Given the description of an element on the screen output the (x, y) to click on. 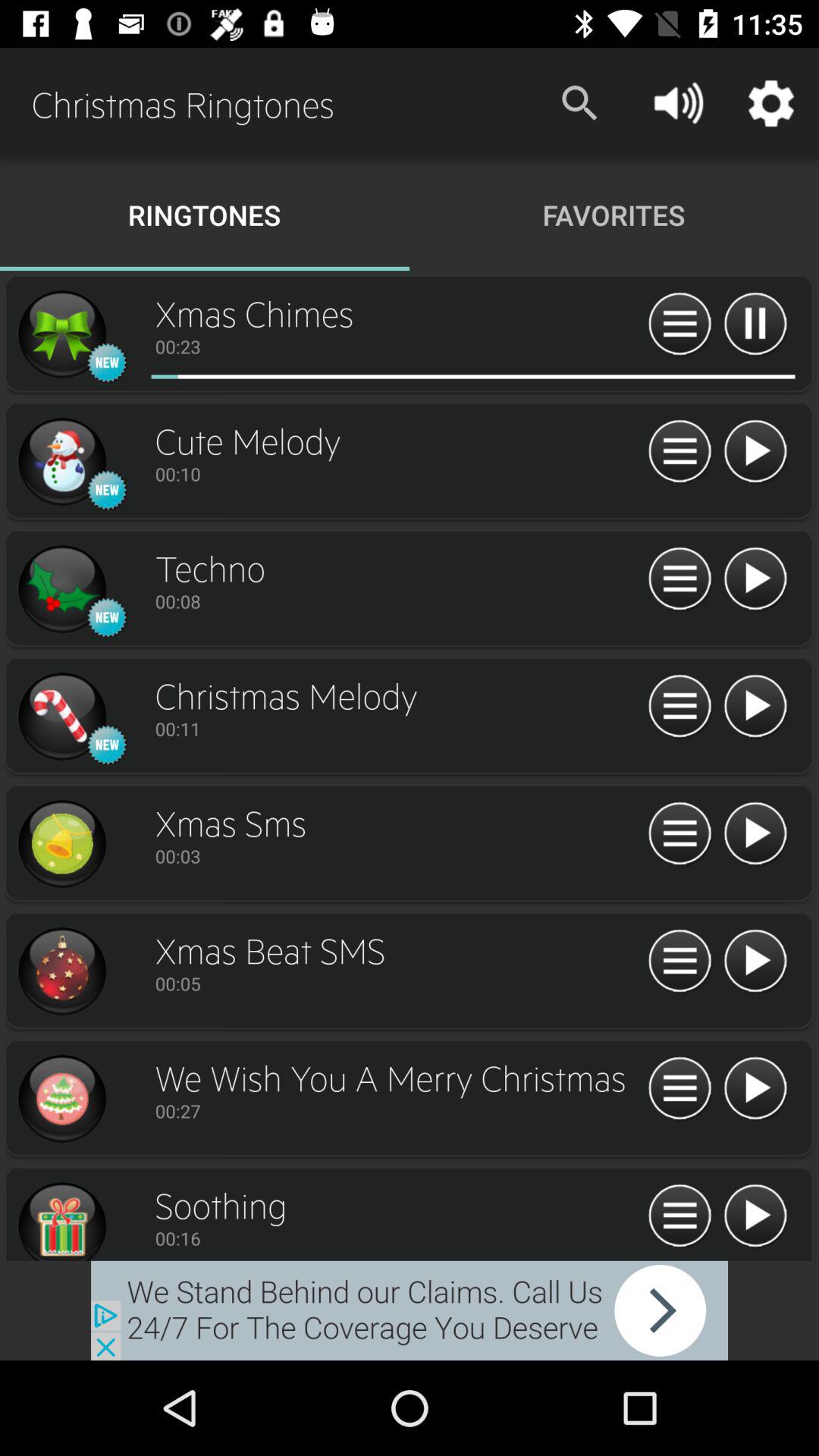
play button (755, 1216)
